Given the description of an element on the screen output the (x, y) to click on. 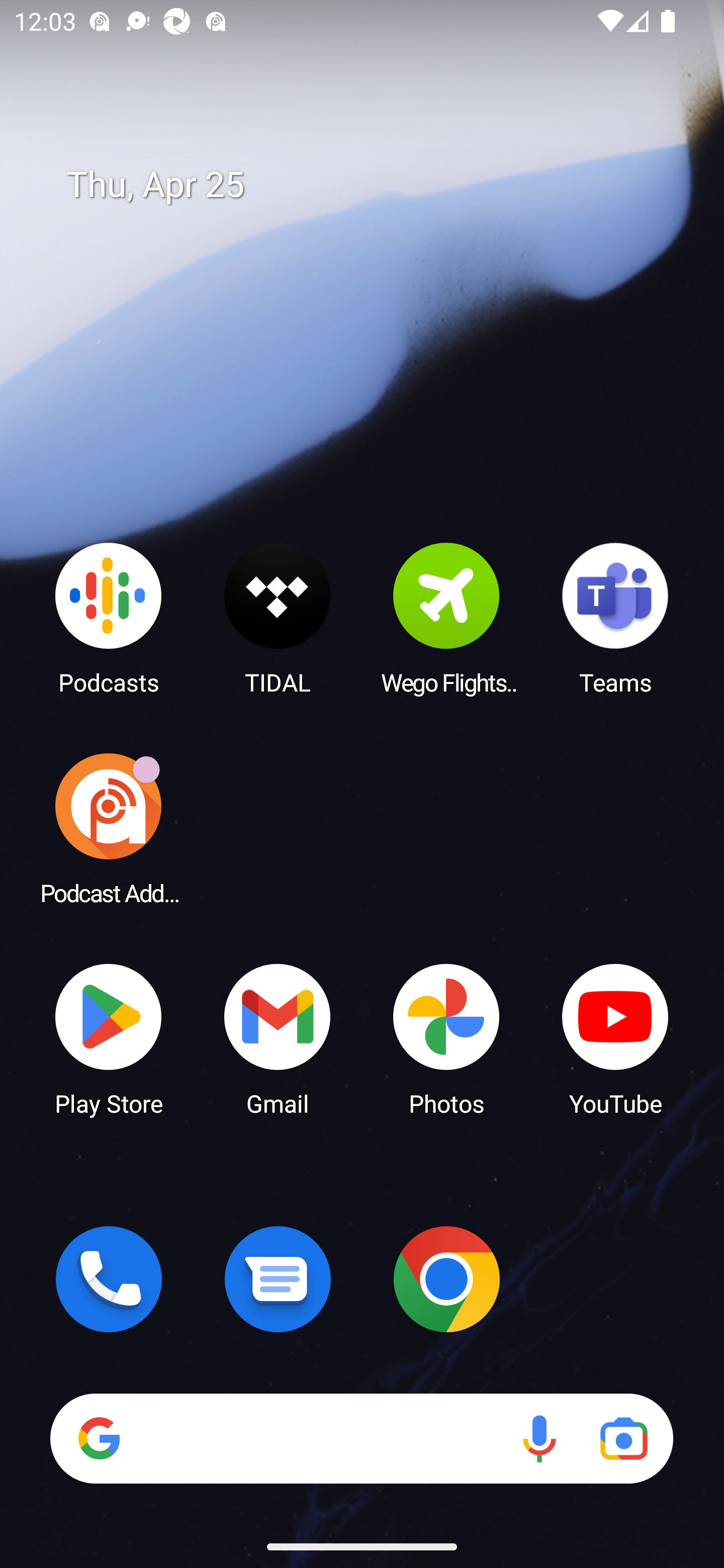
Thu, Apr 25 (375, 184)
Podcasts (108, 617)
TIDAL (277, 617)
Wego Flights & Hotels (445, 617)
Teams (615, 617)
Play Store (108, 1038)
Gmail (277, 1038)
Photos (445, 1038)
YouTube (615, 1038)
Phone (108, 1279)
Messages (277, 1279)
Chrome (446, 1279)
Search Voice search Google Lens (361, 1438)
Voice search (539, 1438)
Google Lens (623, 1438)
